Given the description of an element on the screen output the (x, y) to click on. 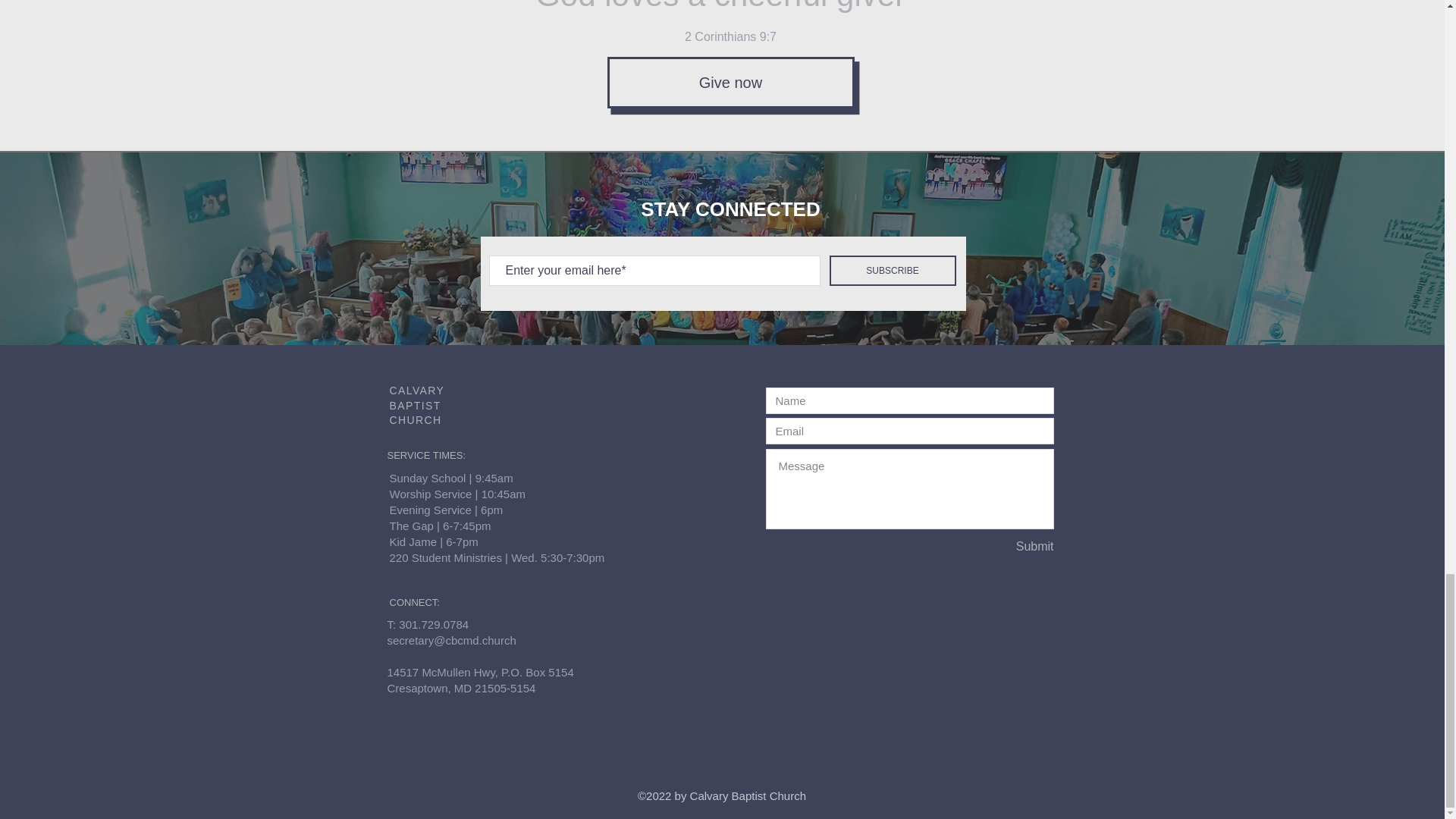
SUBSCRIBE (892, 270)
Submit (1000, 546)
Give now (730, 82)
